Given the description of an element on the screen output the (x, y) to click on. 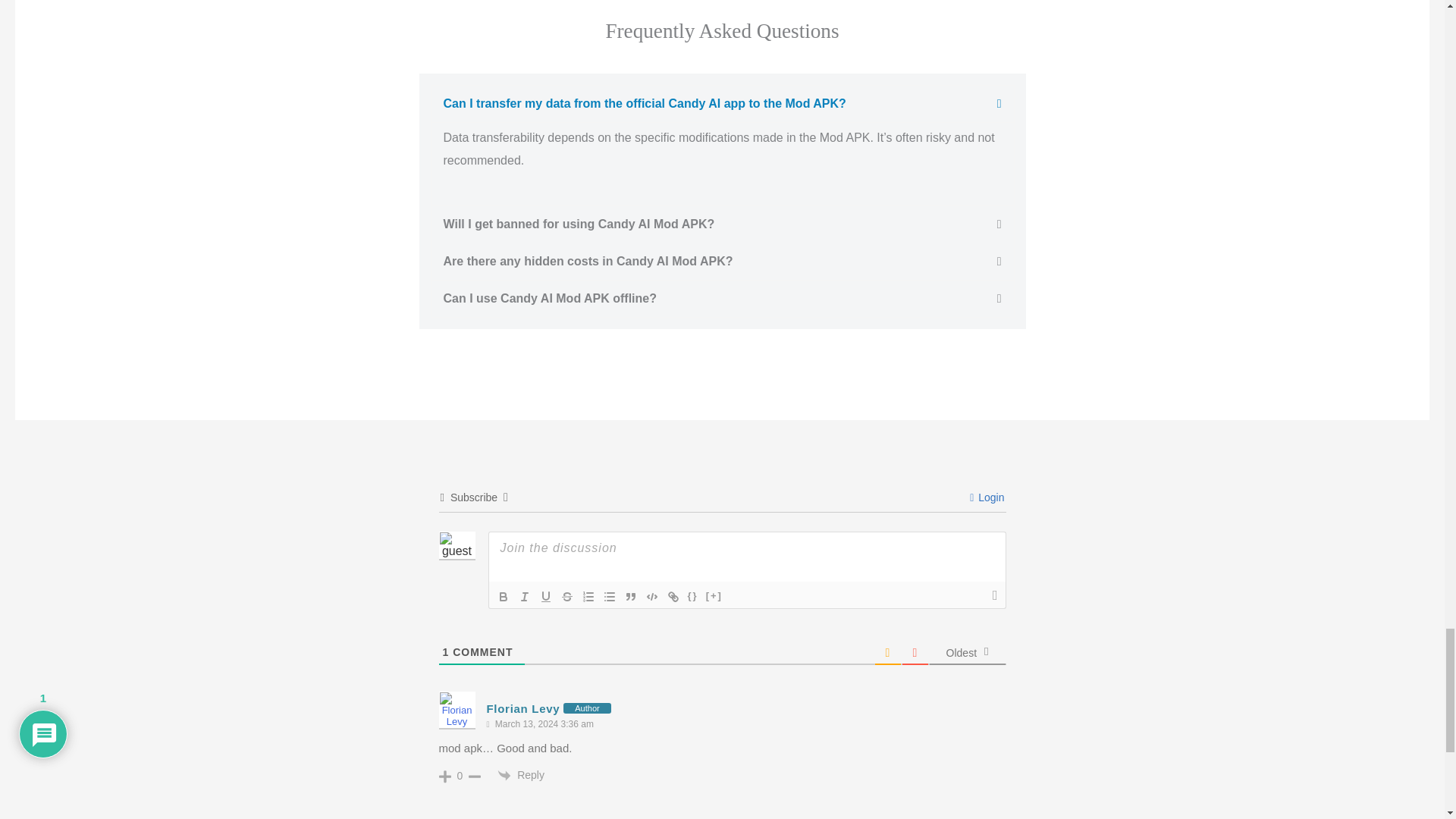
Unordered List (609, 597)
Bold (503, 597)
Spoiler (713, 597)
Link (673, 597)
Underline (545, 597)
Strike (567, 597)
Code Block (652, 597)
Ordered List (588, 597)
Italic (524, 597)
Blockquote (631, 597)
Source Code (692, 597)
